Given the description of an element on the screen output the (x, y) to click on. 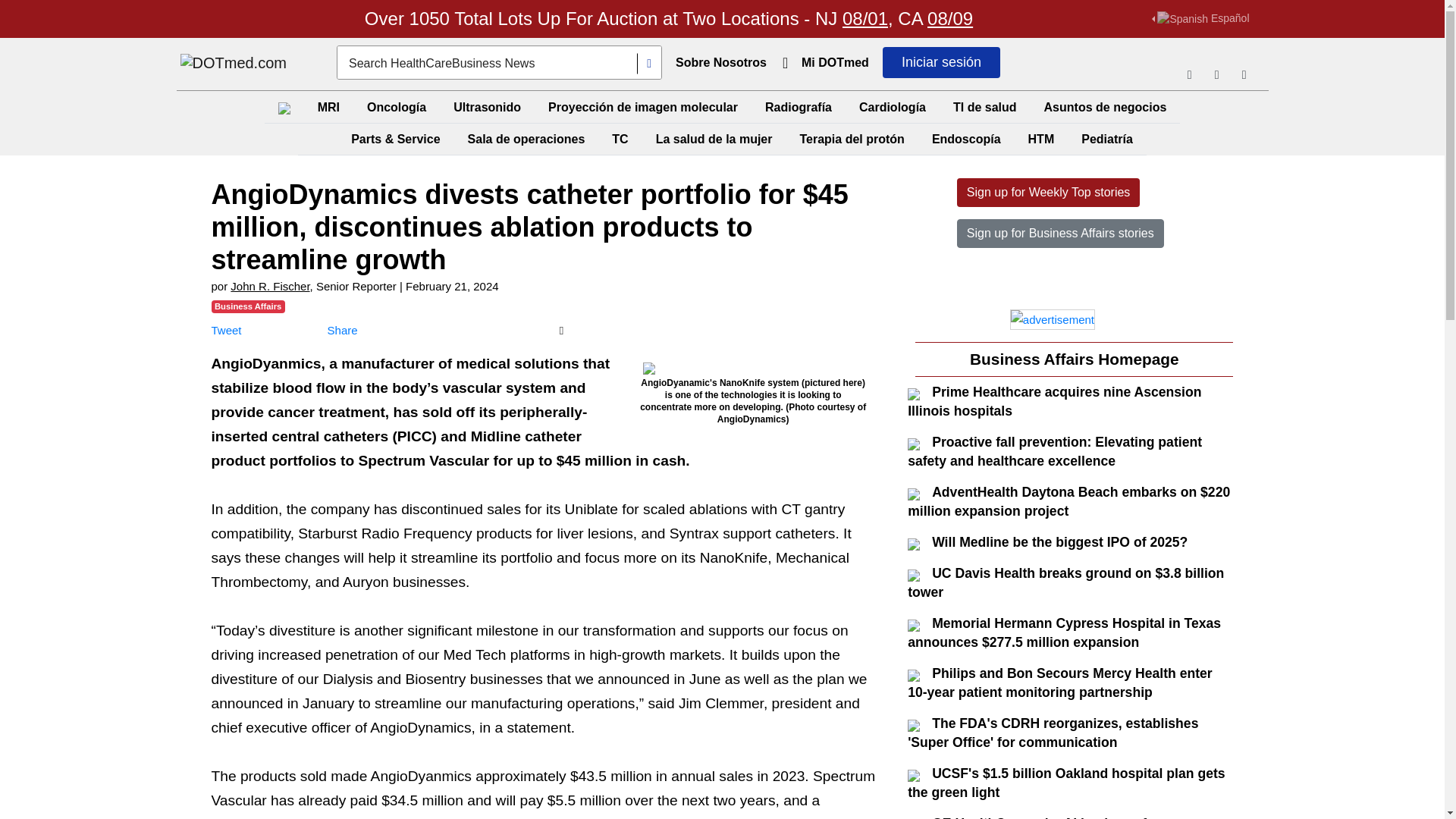
Sobre Nosotros (721, 61)
DOTmed News (233, 63)
Mi DOTmed (834, 61)
Ultrasonido (486, 106)
Asuntos de negocios (1105, 106)
More news from John R. Fischer (269, 286)
Sala de operaciones (526, 138)
MRI (328, 106)
TI de salud (985, 106)
